Given the description of an element on the screen output the (x, y) to click on. 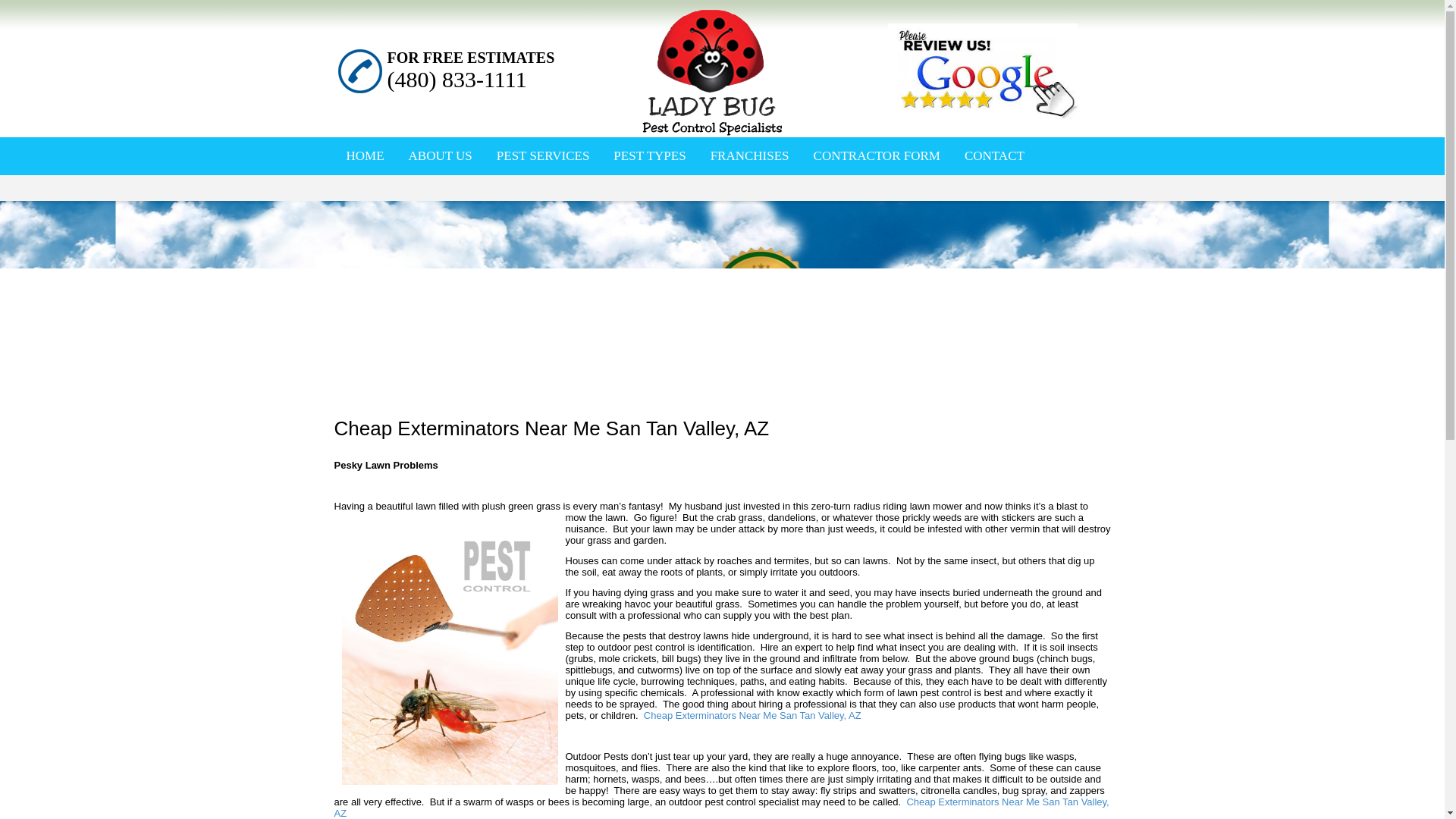
Cheap Exterminators Near Me San Tan Valley, AZ (752, 715)
FRANCHISES (749, 155)
PEST TYPES (649, 155)
ABOUT US (440, 155)
VIDEOS (454, 194)
CONTACT (994, 155)
Cheap Exterminators Near Me San Tan Valley, AZ (720, 807)
CONTRACTOR FORM (876, 155)
HOME (364, 155)
ARTICLES (375, 194)
